Given the description of an element on the screen output the (x, y) to click on. 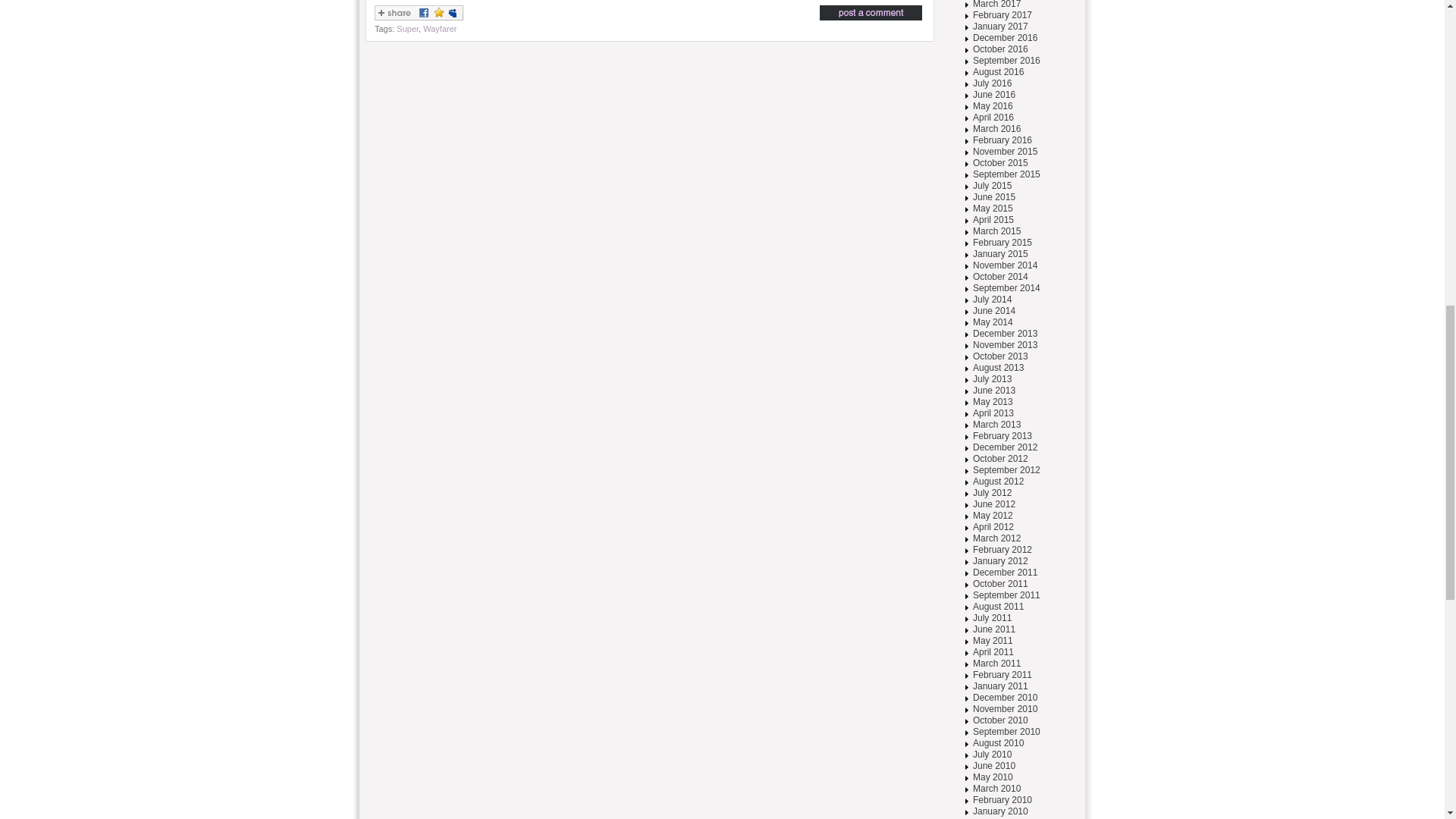
Super (407, 28)
Wayfarer (440, 28)
